Given the description of an element on the screen output the (x, y) to click on. 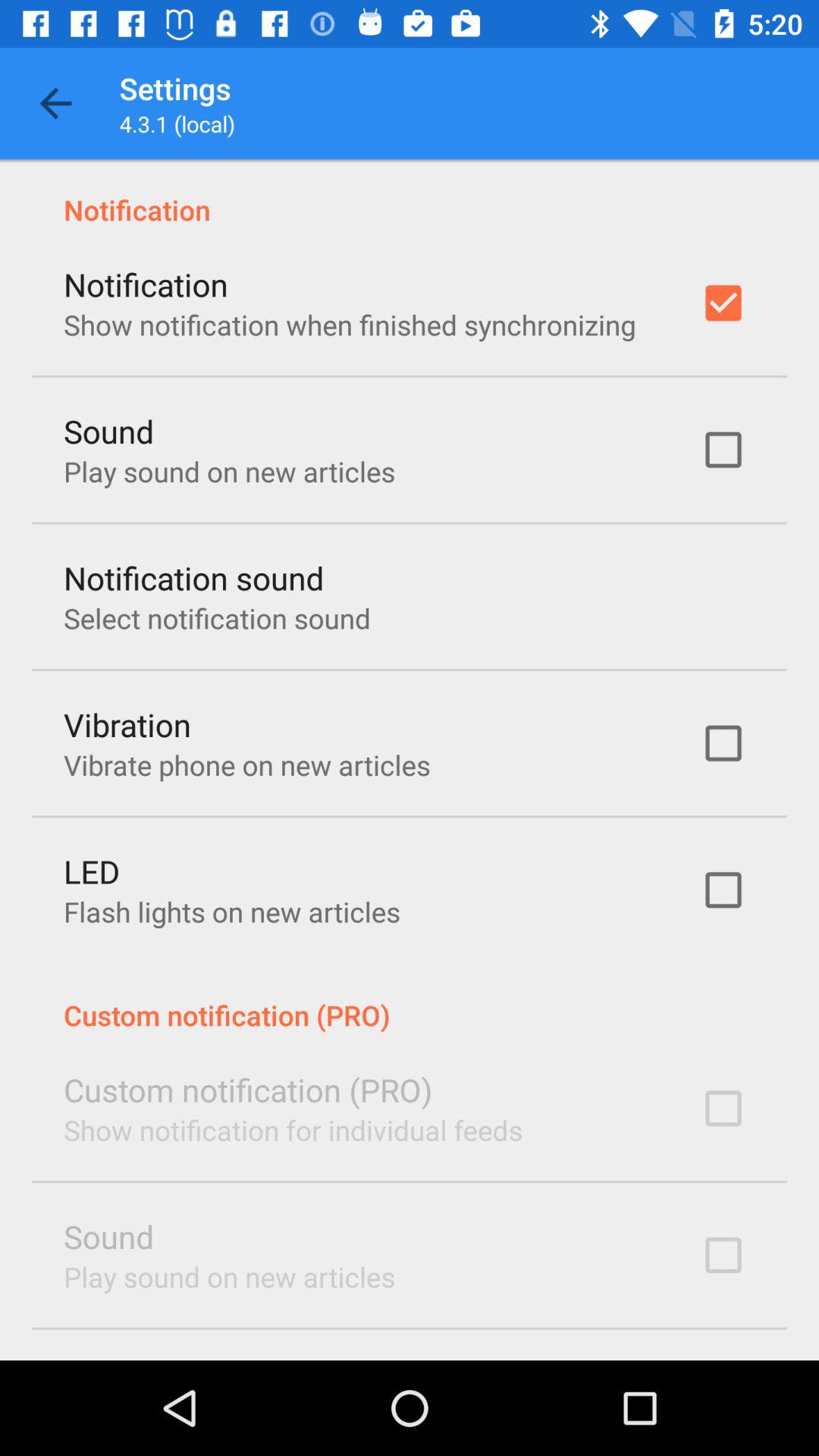
tap the item below vibration icon (246, 764)
